Given the description of an element on the screen output the (x, y) to click on. 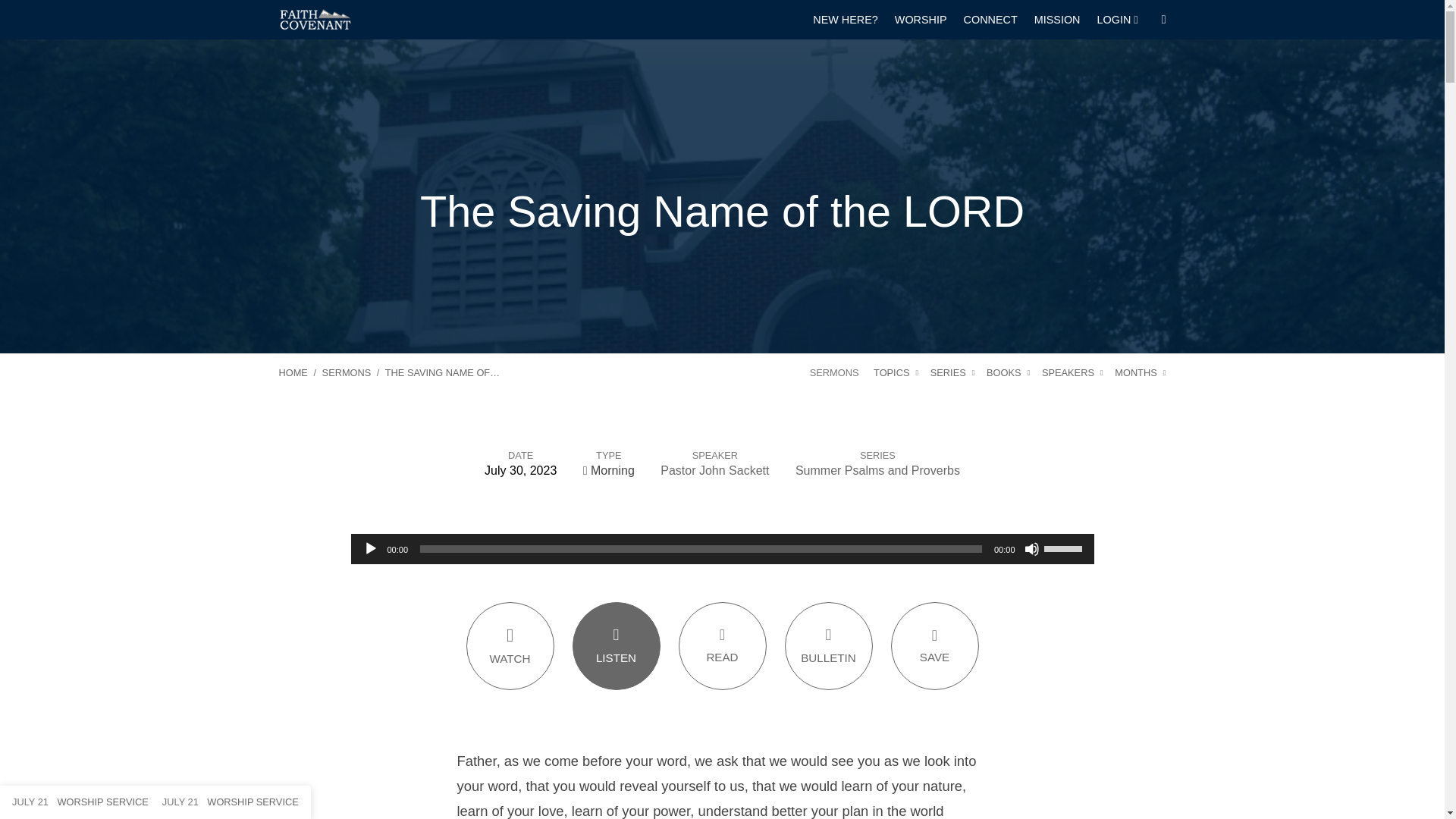
WORSHIP (921, 19)
Mute (1031, 548)
NEW HERE? (844, 19)
Breeze Church System (1117, 19)
LOGIN (1117, 19)
MISSION (1056, 19)
CONNECT (990, 19)
Play (369, 548)
